Given the description of an element on the screen output the (x, y) to click on. 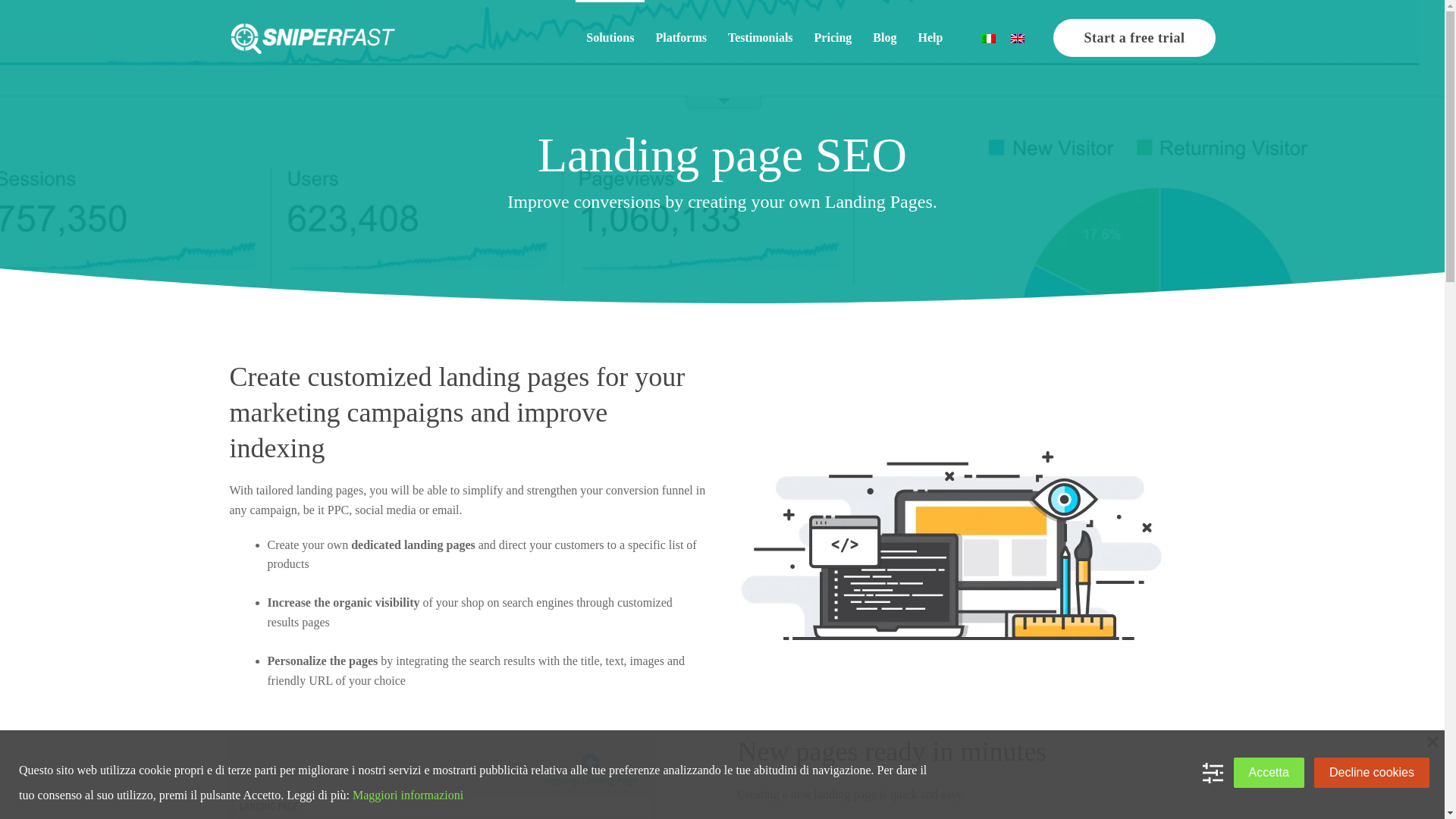
Improve conversions by creating your own Landing Pages. (721, 202)
Testimonials (760, 38)
Platforms (681, 38)
Manage cookie settings (1212, 772)
Solutions (610, 38)
Landing page SEO (721, 154)
